Given the description of an element on the screen output the (x, y) to click on. 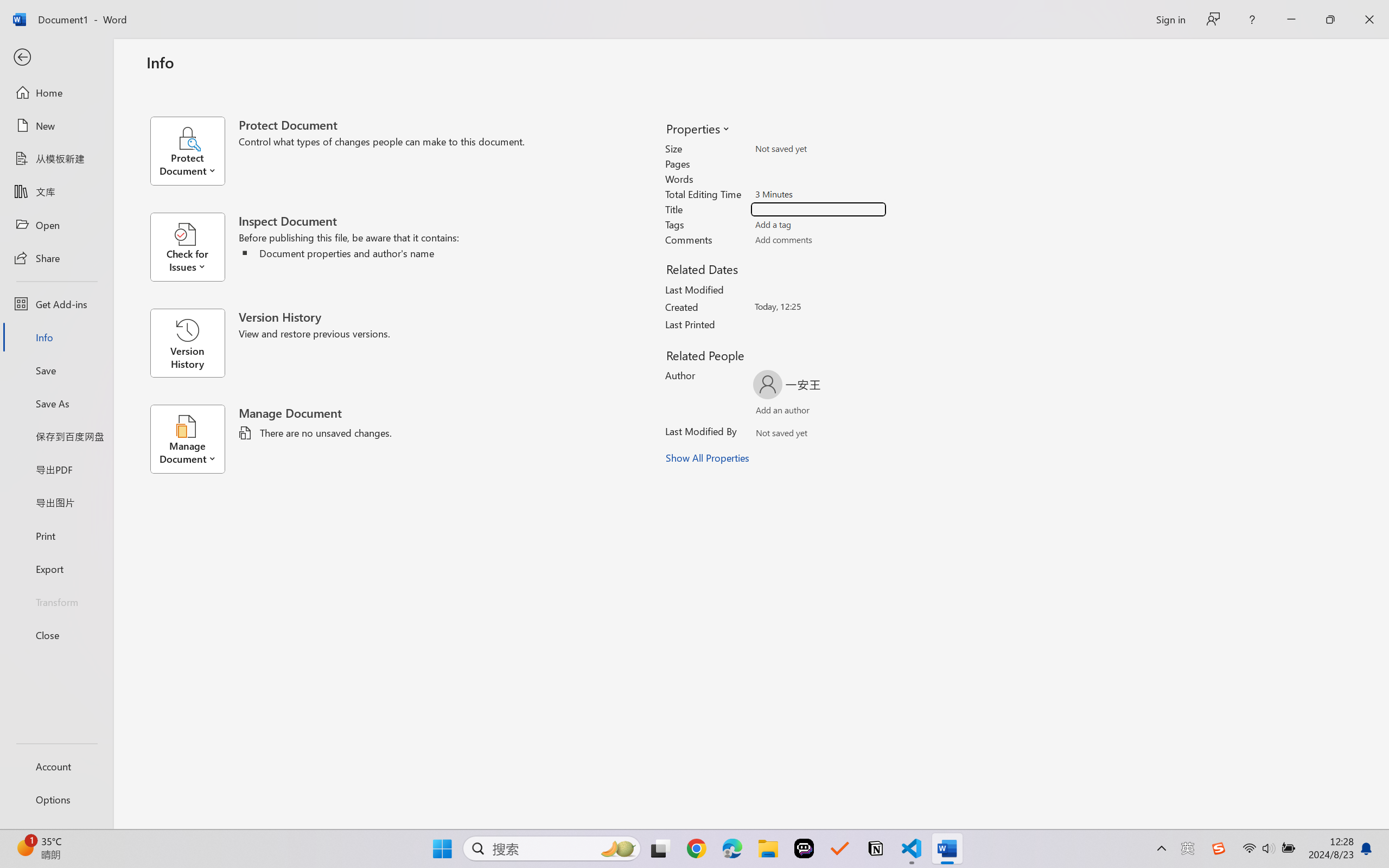
Title (818, 209)
Words (818, 178)
Protect Document (194, 150)
Export (56, 568)
Sign in (1170, 18)
Verify Names (802, 434)
Total Editing Time (818, 193)
Transform (56, 601)
Options (56, 798)
